Given the description of an element on the screen output the (x, y) to click on. 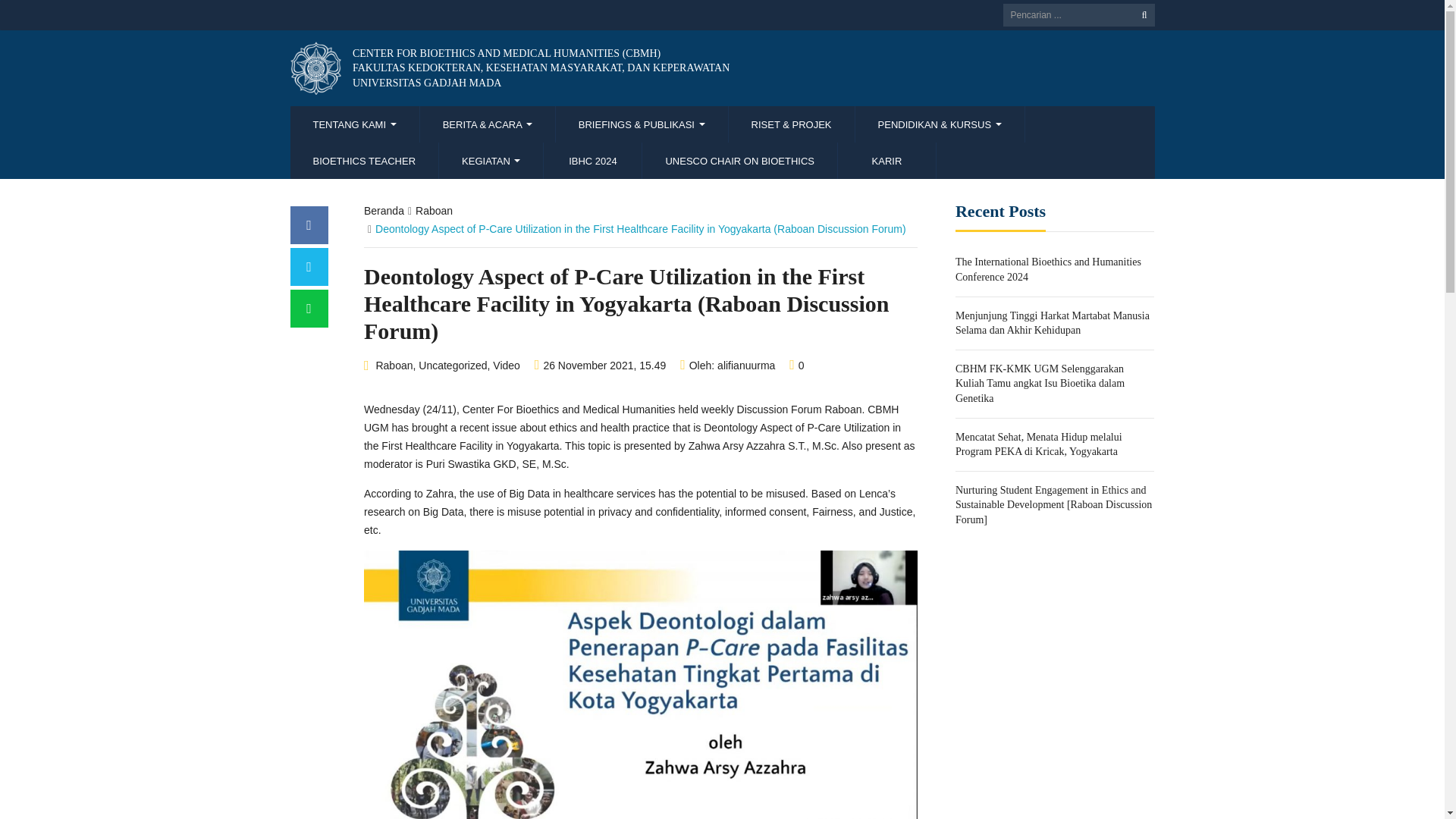
Raboan (433, 210)
BIOETHICS TEACHER (364, 160)
Uncategorized (452, 365)
UNESCO CHAIR ON BIOETHICS (739, 160)
KARIR (887, 160)
IBHC 2024 (592, 160)
Raboan (393, 365)
Tentang Kami (354, 124)
Beranda (384, 210)
Video (506, 365)
KEGIATAN (491, 160)
TENTANG KAMI (354, 124)
alifianuurma (745, 365)
